Given the description of an element on the screen output the (x, y) to click on. 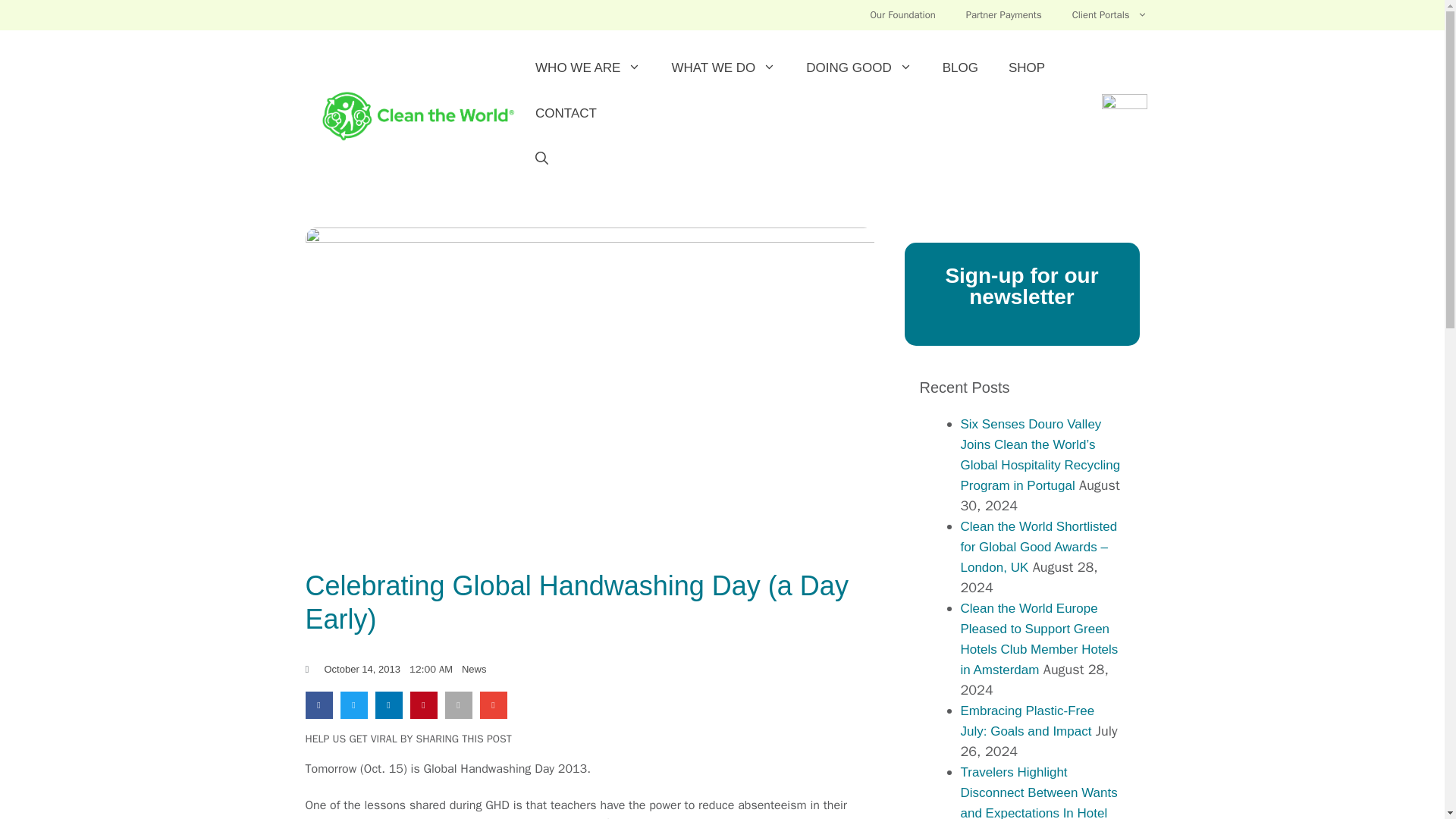
CONTACT (565, 113)
Partner Payments (1003, 15)
DOING GOOD (858, 67)
WHO WE ARE (587, 67)
Our Foundation (903, 15)
BLOG (959, 67)
WHAT WE DO (723, 67)
SHOP (1025, 67)
Client Portals (1109, 15)
